Given the description of an element on the screen output the (x, y) to click on. 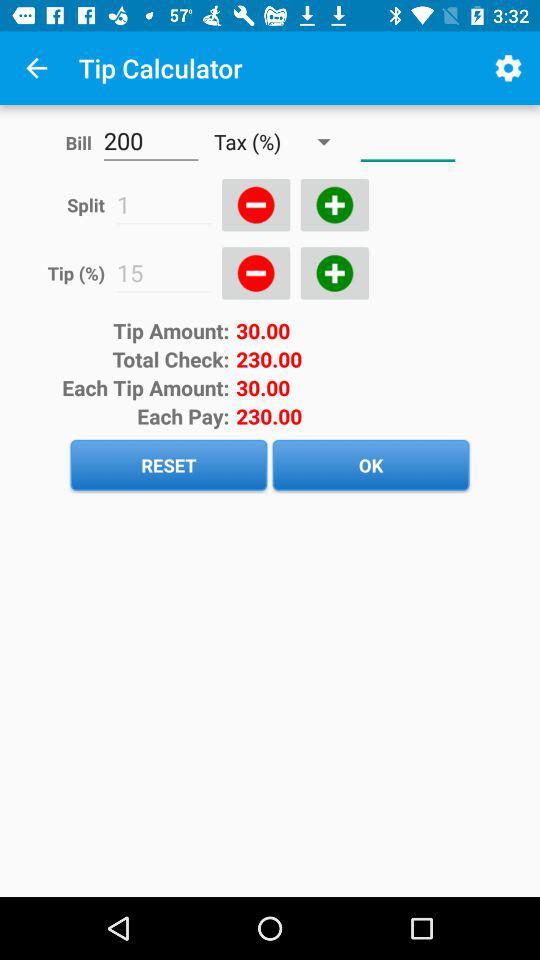
adds a split (334, 205)
